Given the description of an element on the screen output the (x, y) to click on. 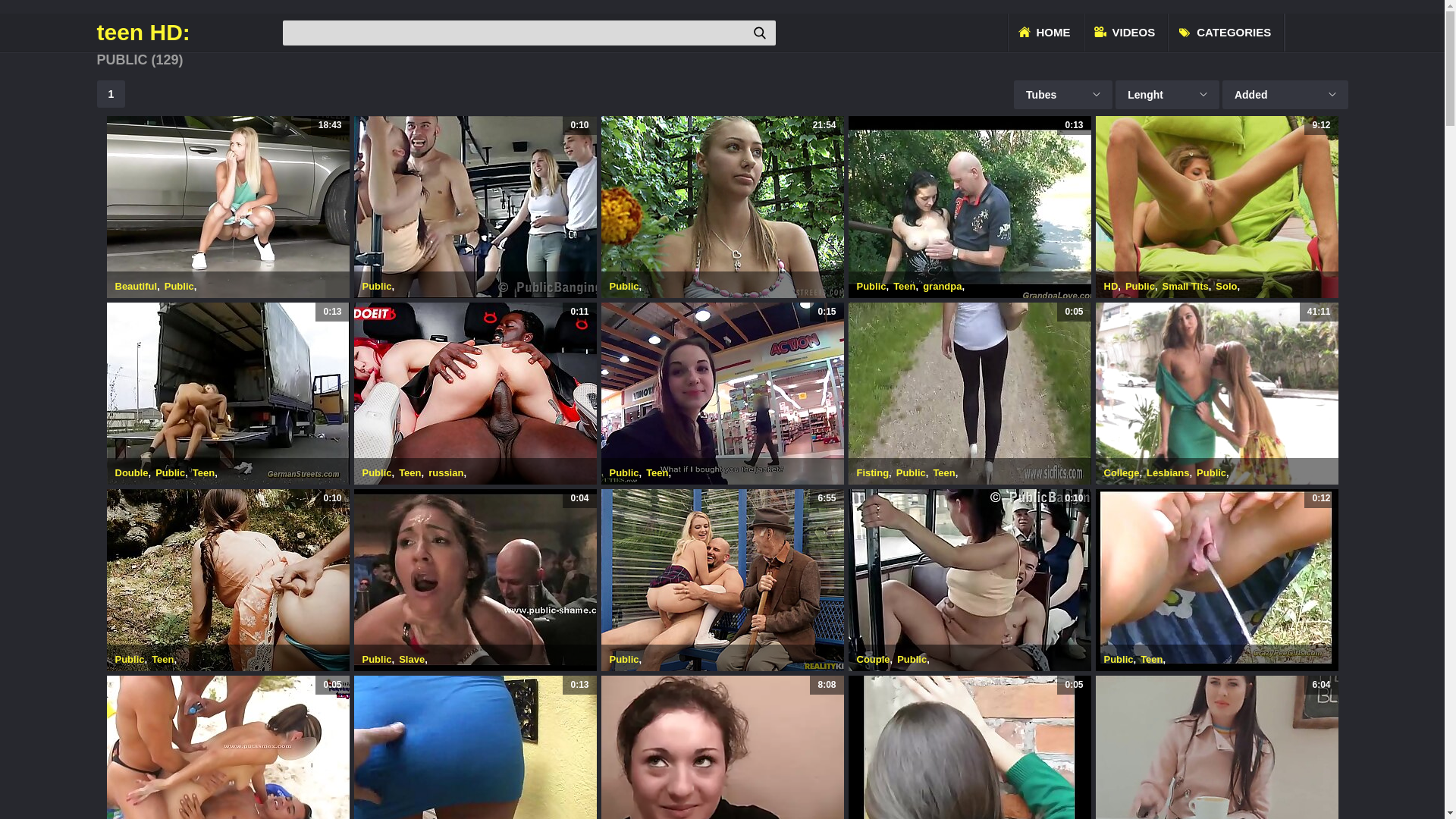
VIDEOS Element type: text (1126, 32)
Couple Element type: text (873, 659)
Small Tits Element type: text (1185, 285)
grandpa Element type: text (941, 285)
Solo Element type: text (1225, 285)
Public Element type: text (871, 285)
0:13 Element type: text (227, 393)
0:15 Element type: text (721, 393)
Public Element type: text (179, 285)
Teen Element type: text (943, 472)
Public Element type: text (910, 472)
HOME Element type: text (1044, 32)
0:04 Element type: text (474, 580)
0:05 Element type: text (968, 393)
1 Element type: text (111, 93)
0:10 Element type: text (227, 580)
russian Element type: text (445, 472)
0:13 Element type: text (968, 207)
9:12 Element type: text (1216, 207)
CATEGORIES Element type: text (1225, 32)
41:11 Element type: text (1216, 393)
6:55 Element type: text (721, 580)
Public Element type: text (624, 659)
Teen Element type: text (904, 285)
Public Element type: text (170, 472)
0:10 Element type: text (968, 580)
0:12 Element type: text (1216, 580)
Public Element type: text (624, 285)
18:43 Element type: text (227, 207)
Public Element type: text (377, 285)
0:11 Element type: text (474, 393)
HD Element type: text (1111, 285)
Public Element type: text (1139, 285)
Teen Element type: text (1151, 659)
Teen Element type: text (203, 472)
Slave Element type: text (411, 659)
Public Element type: text (129, 659)
Public Element type: text (911, 659)
Public Element type: text (377, 472)
Double Element type: text (131, 472)
Public Element type: text (1118, 659)
Public Element type: text (1211, 472)
Teen Element type: text (657, 472)
Fisting Element type: text (872, 472)
Public Element type: text (377, 659)
Teen Element type: text (162, 659)
Beautiful Element type: text (136, 285)
teen HD: Element type: text (188, 32)
College Element type: text (1121, 472)
Lesbians Element type: text (1167, 472)
Public Element type: text (624, 472)
21:54 Element type: text (721, 207)
0:10 Element type: text (474, 207)
Teen Element type: text (409, 472)
